Given the description of an element on the screen output the (x, y) to click on. 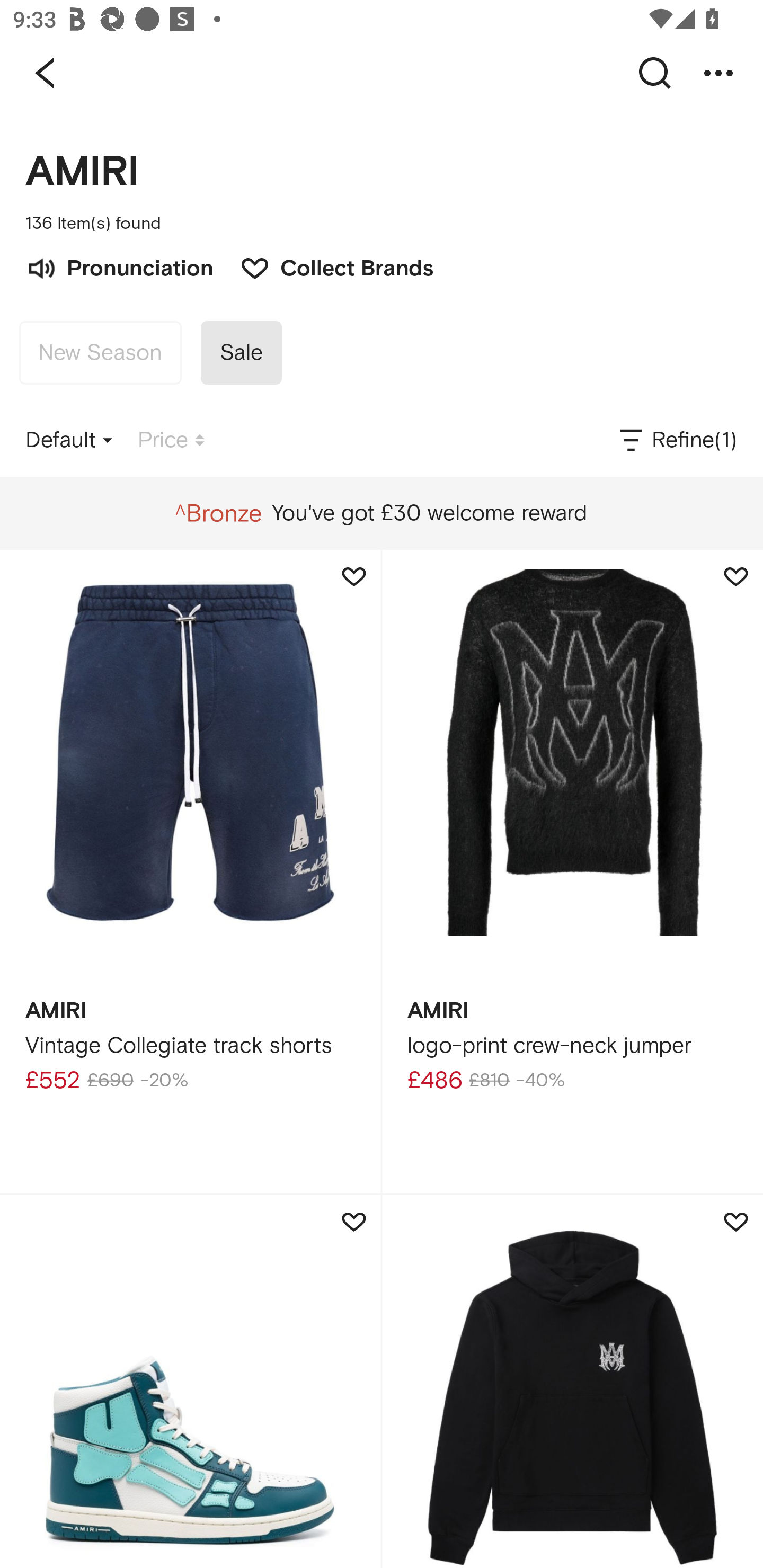
Pronunciation (119, 266)
Collect Brands (327, 266)
New Season (100, 352)
Sale (240, 352)
Default (68, 440)
Price (171, 440)
Refine(1) (677, 440)
You've got £30 welcome reward (381, 513)
AMIRI logo-print crew-neck jumper £486 £810 -40% (572, 871)
